Given the description of an element on the screen output the (x, y) to click on. 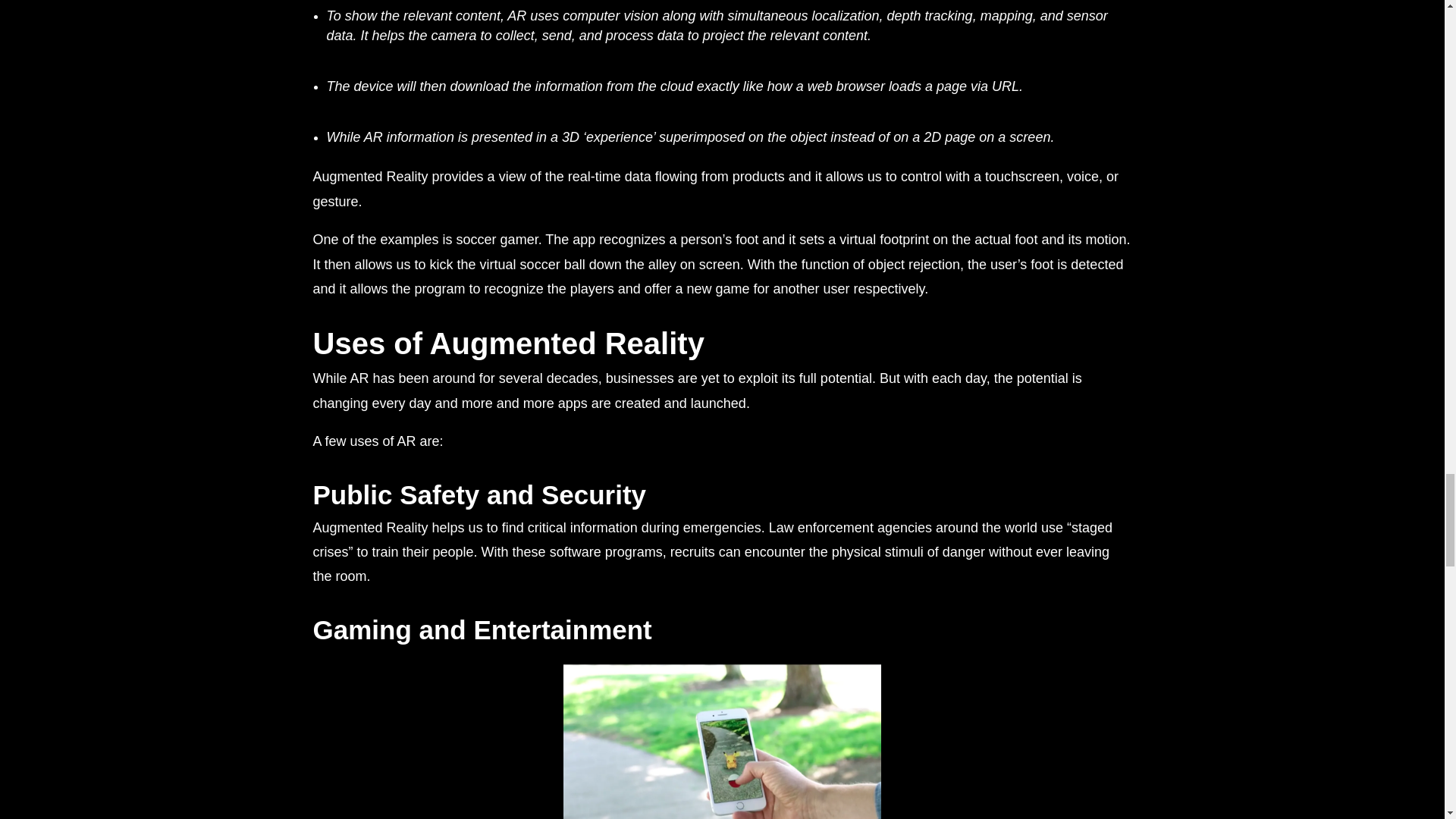
Augmented Reality for Dummies 4 (721, 741)
